Given the description of an element on the screen output the (x, y) to click on. 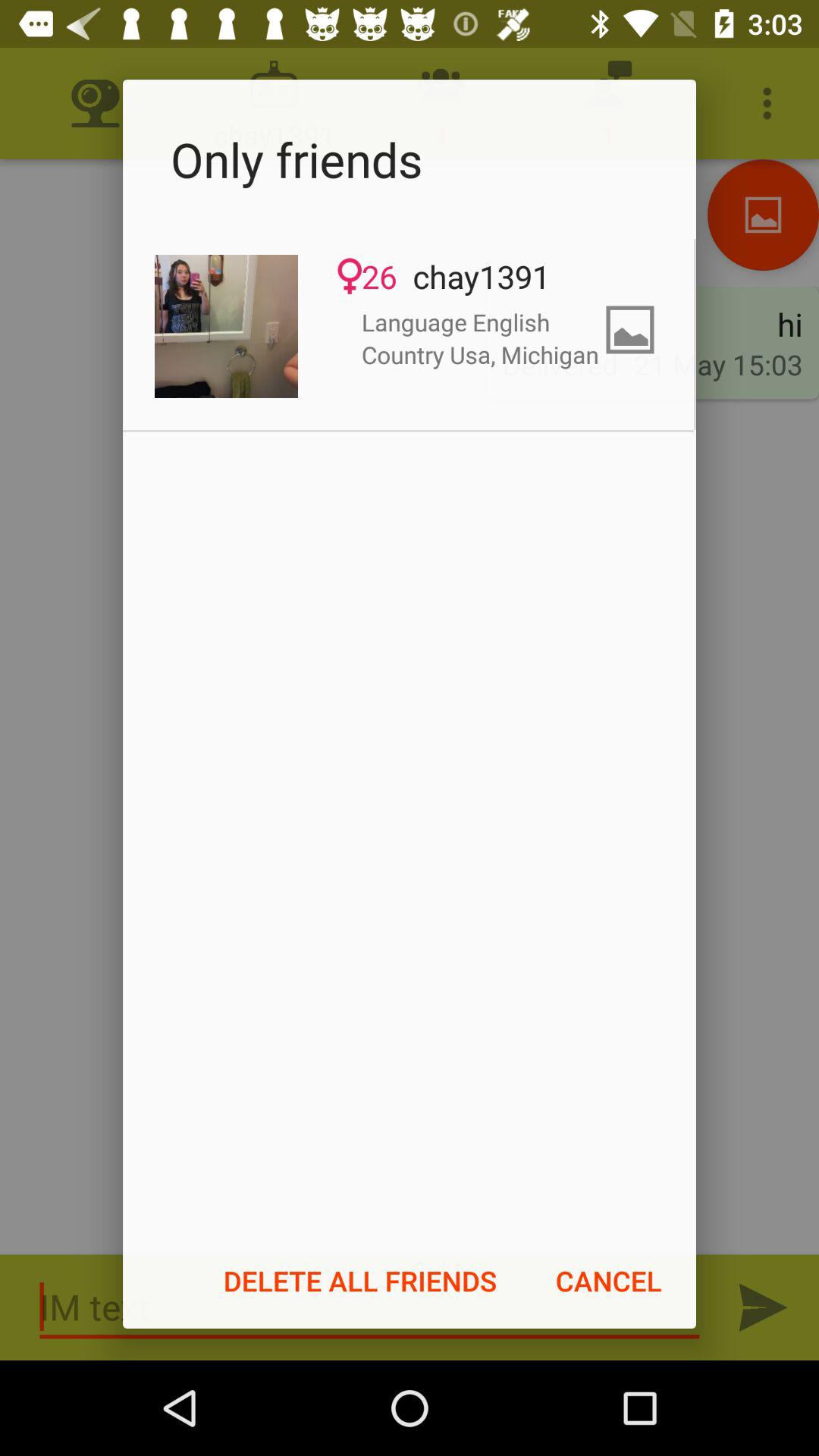
turn off item next to cancel (359, 1280)
